Given the description of an element on the screen output the (x, y) to click on. 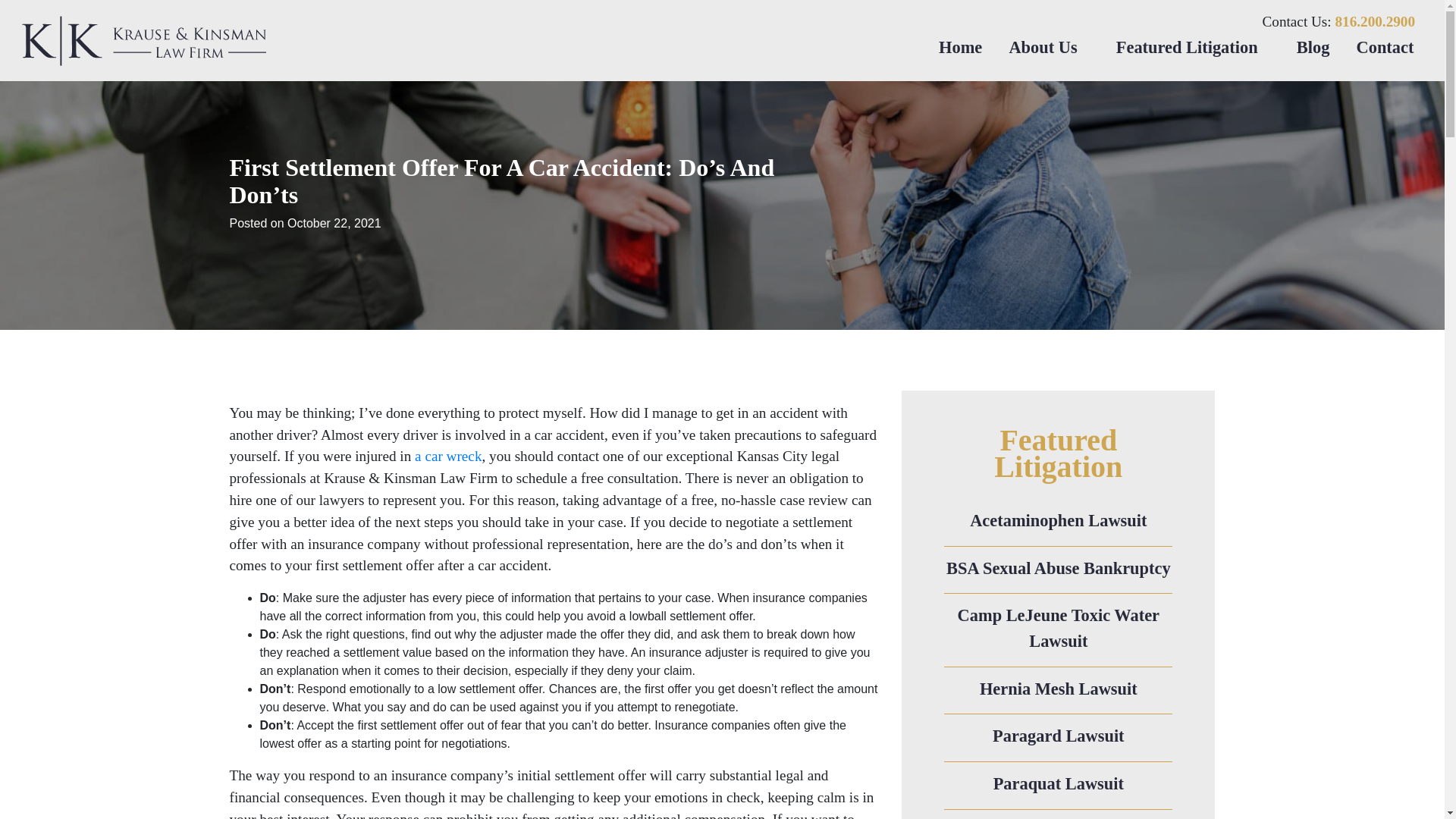
About Us (1048, 47)
Home (959, 47)
Contact (1385, 47)
Blog (1312, 47)
Featured Litigation (1192, 47)
